Given the description of an element on the screen output the (x, y) to click on. 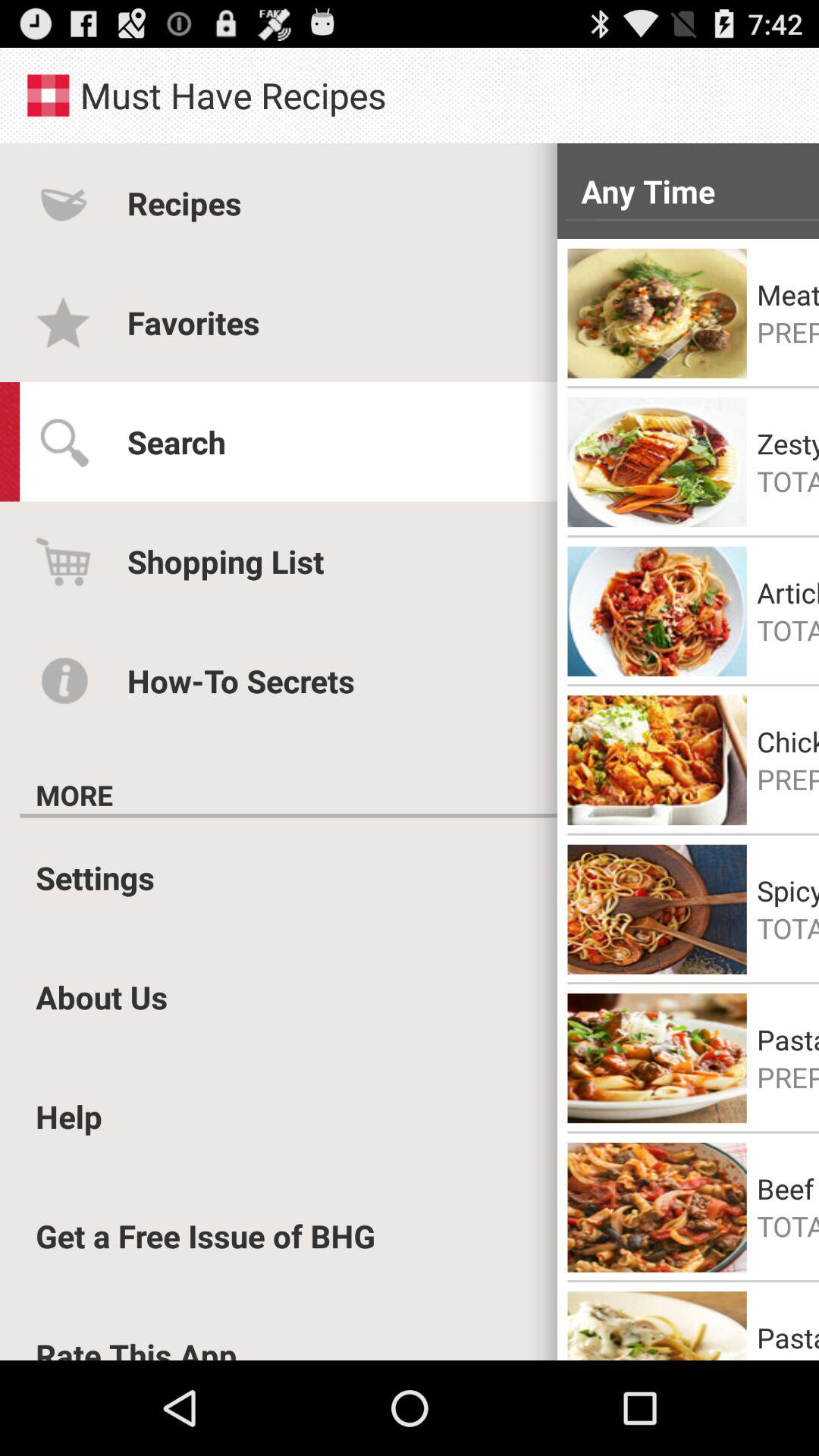
scroll to the favorites app (193, 322)
